Given the description of an element on the screen output the (x, y) to click on. 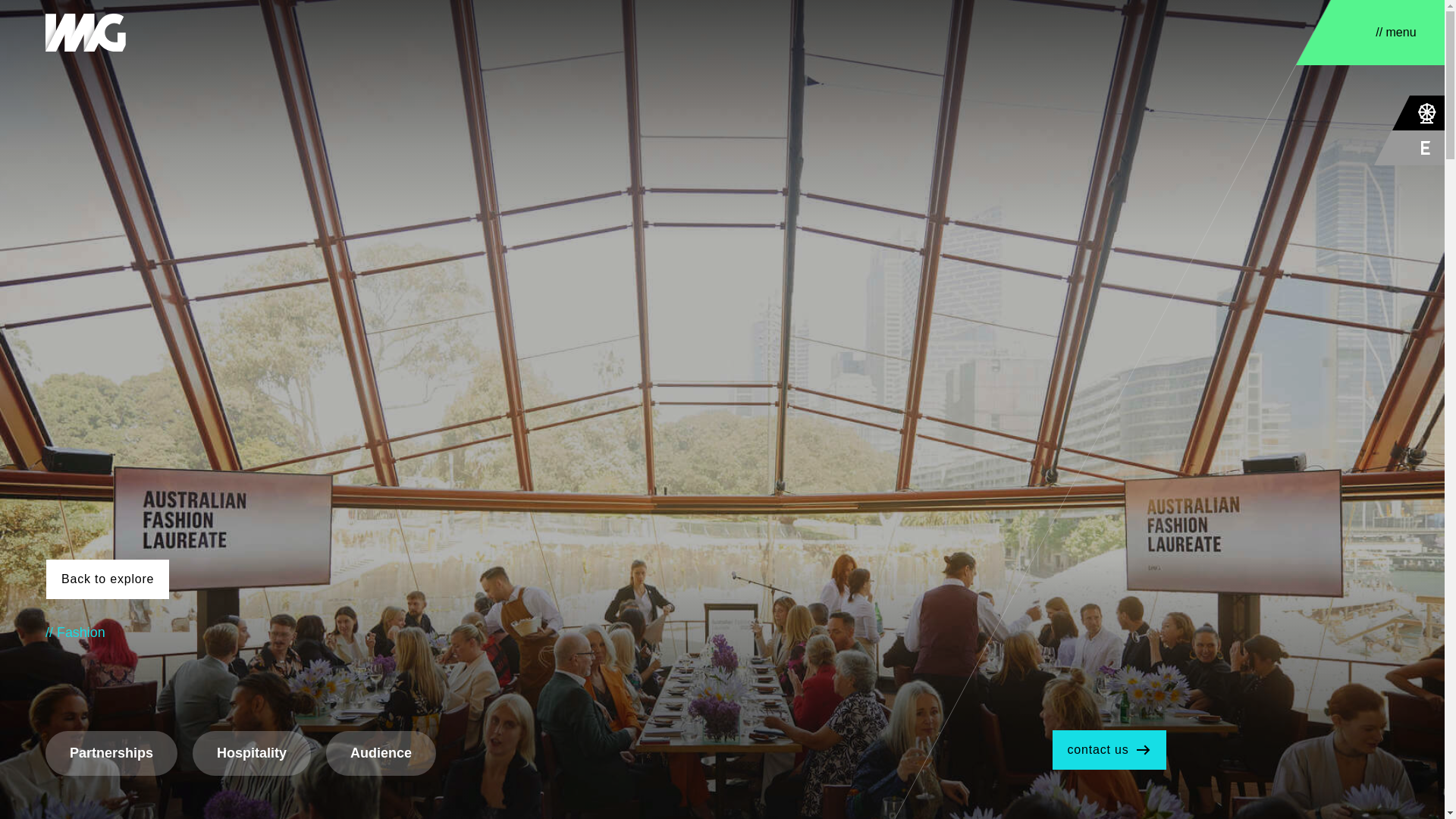
Hospitality (251, 753)
contact us (1109, 749)
Audience (380, 753)
Back to explore (107, 578)
Partnerships (111, 753)
